Given the description of an element on the screen output the (x, y) to click on. 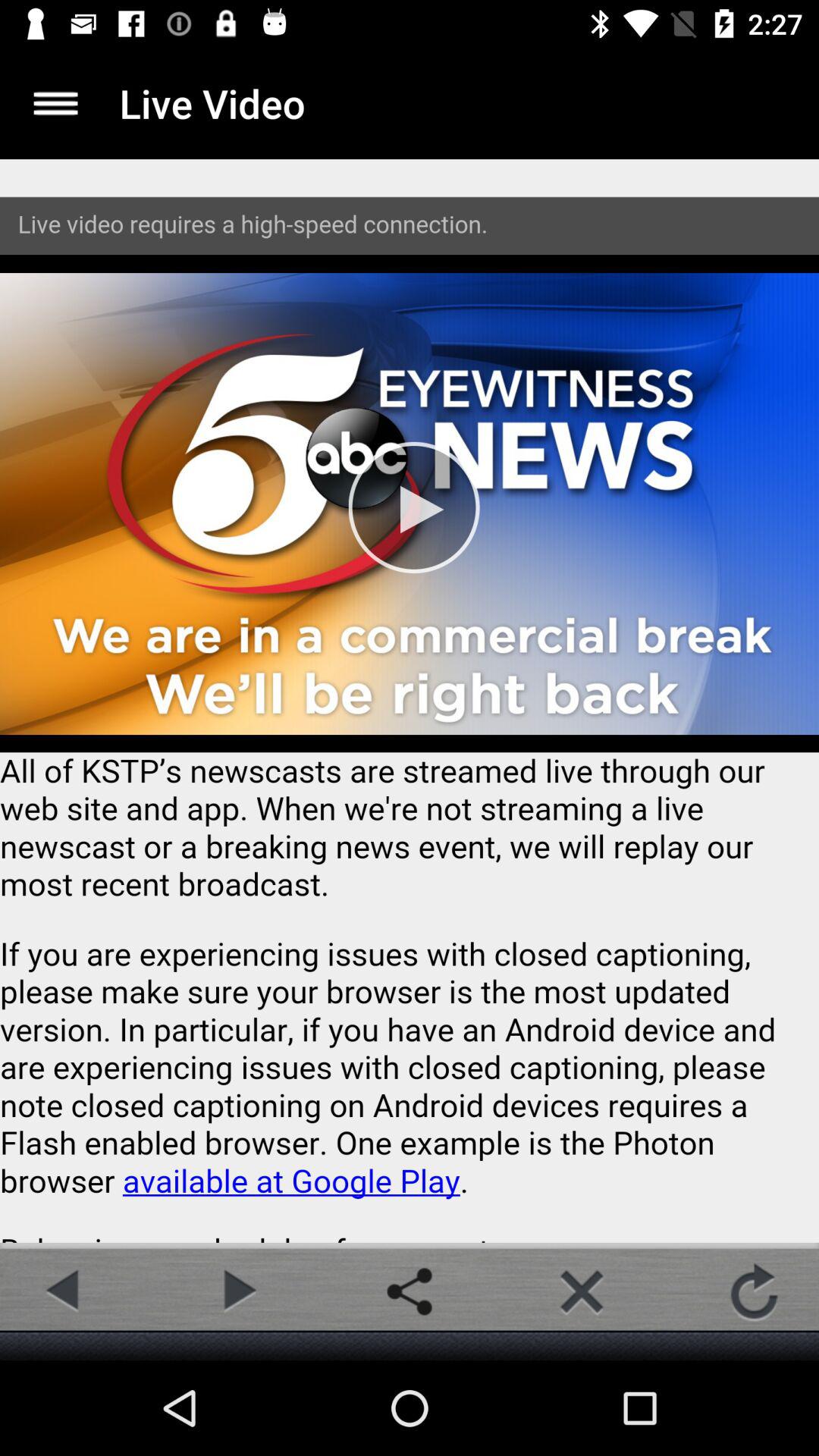
go to refresh (754, 1291)
